Given the description of an element on the screen output the (x, y) to click on. 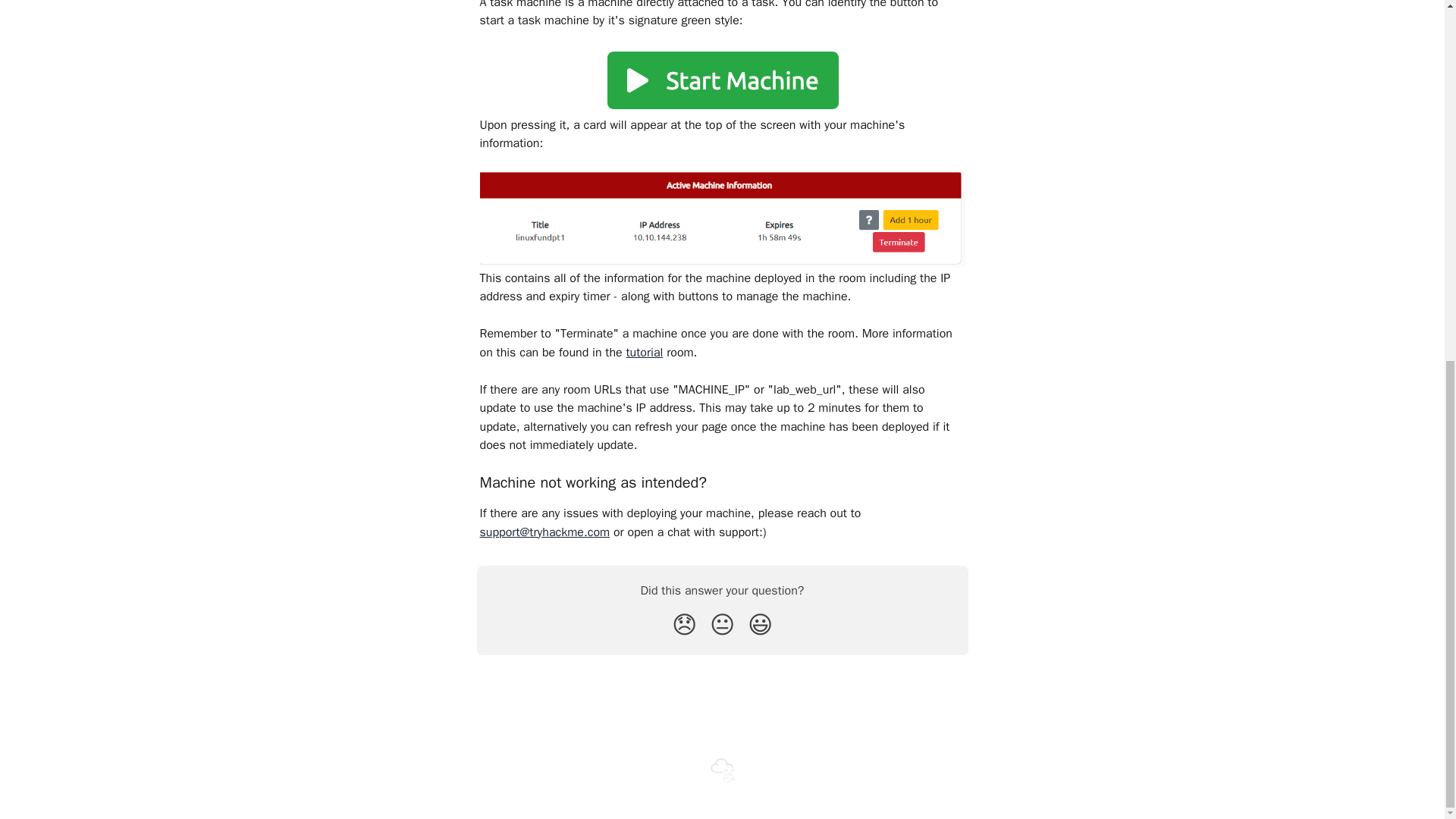
tutorial (644, 352)
